Given the description of an element on the screen output the (x, y) to click on. 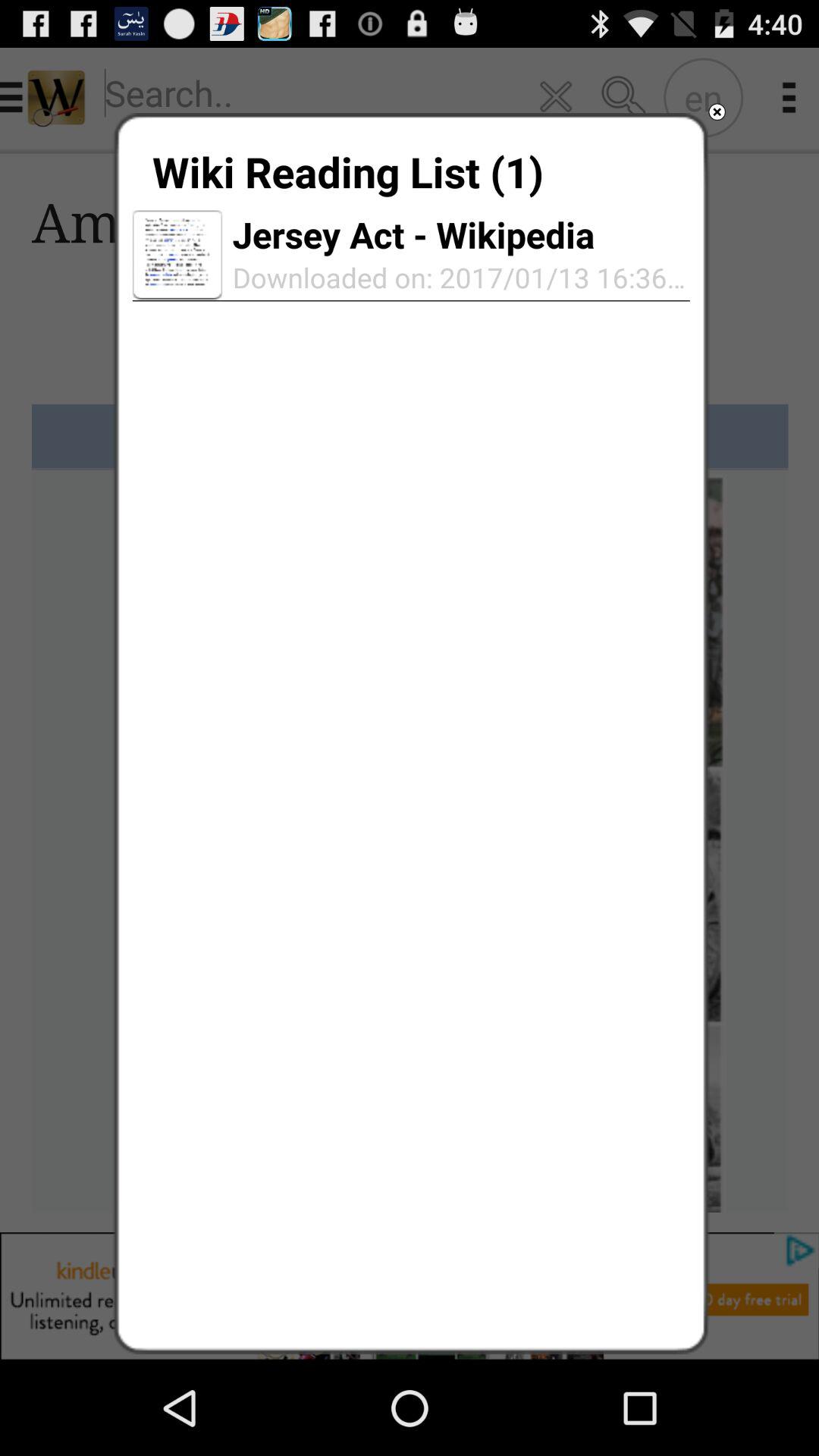
press icon at the top right corner (716, 111)
